Given the description of an element on the screen output the (x, y) to click on. 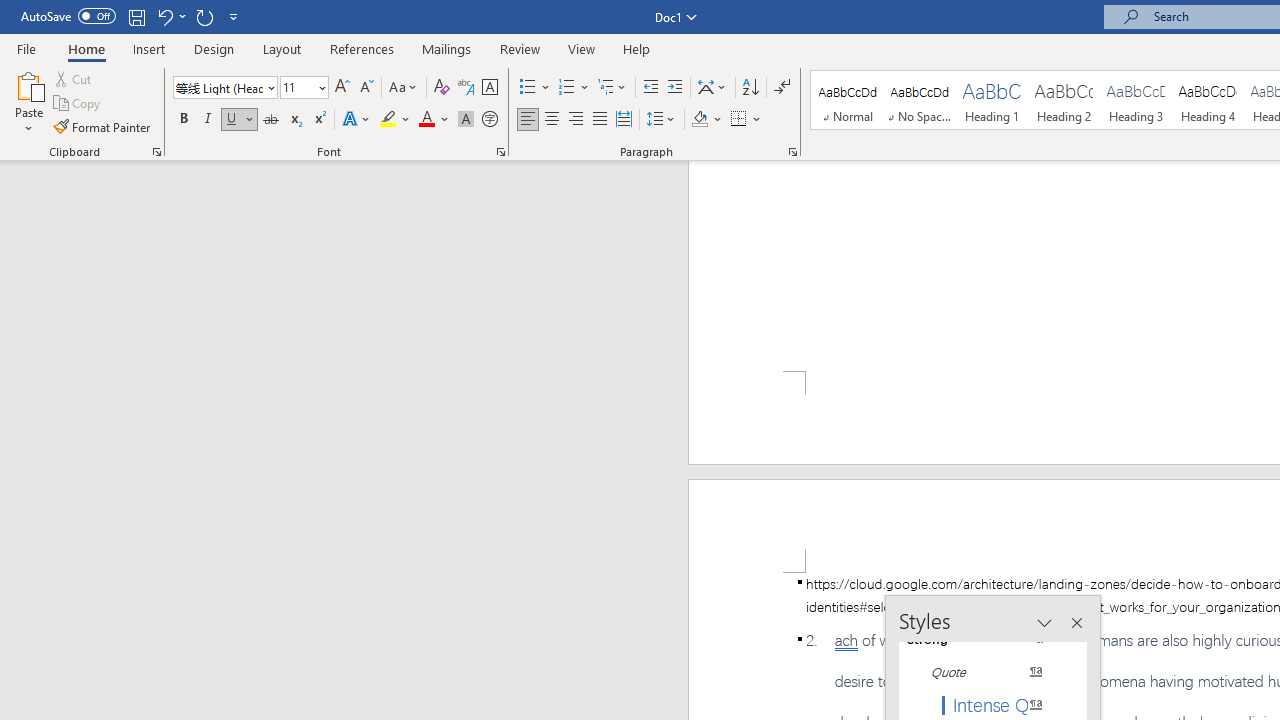
Heading 3 (1135, 100)
